Given the description of an element on the screen output the (x, y) to click on. 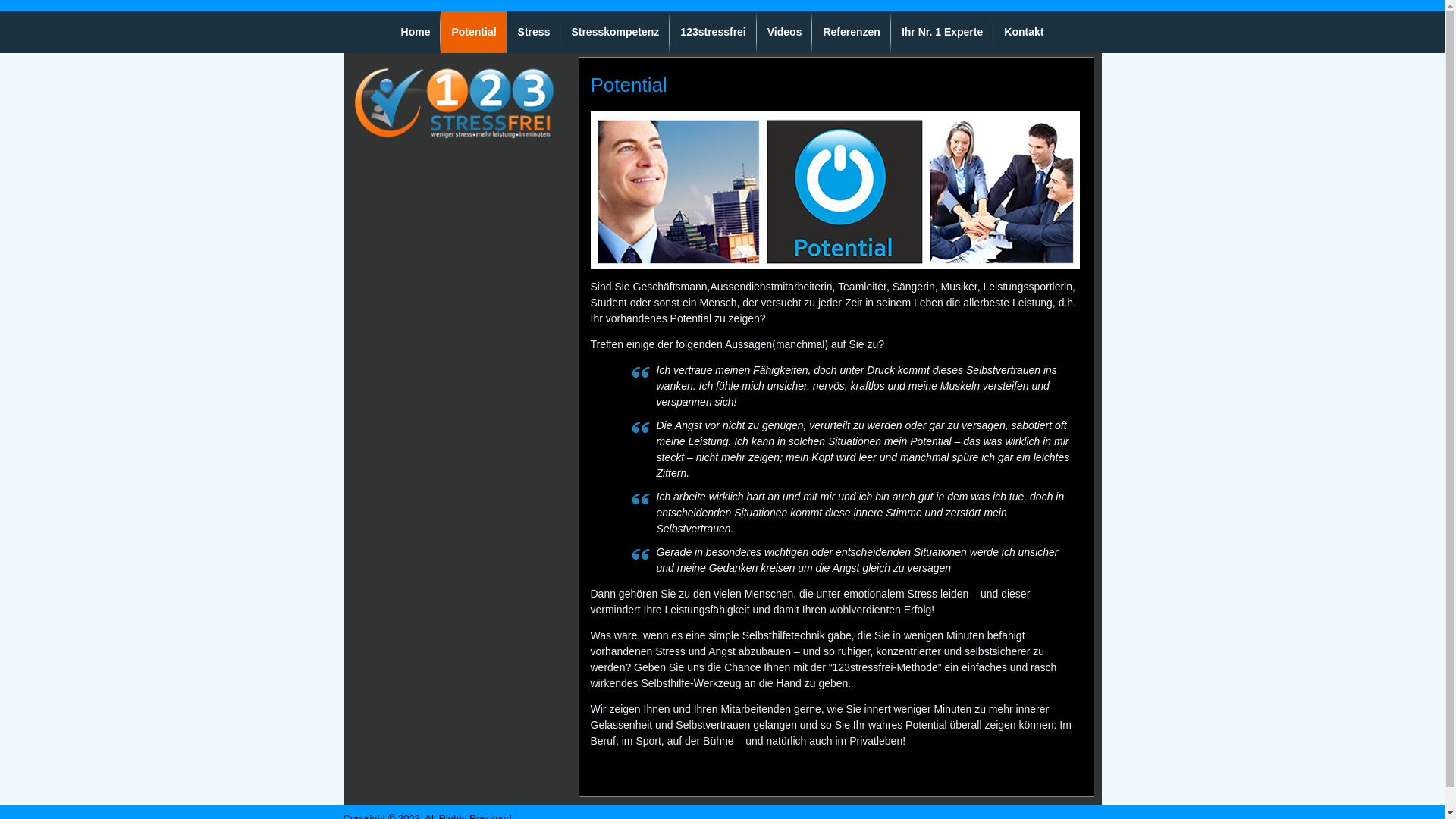
Videos Element type: text (784, 32)
Potential Element type: text (473, 32)
Entfalten Sie Ihr Potential Element type: hover (834, 190)
Referenzen Element type: text (850, 32)
Stresskompetenz Element type: text (614, 32)
123stressfrei Element type: text (712, 32)
Ihr Nr. 1 Experte Element type: text (941, 32)
Stress Element type: text (534, 32)
Home Element type: text (415, 32)
Kontakt Element type: text (1023, 32)
